Given the description of an element on the screen output the (x, y) to click on. 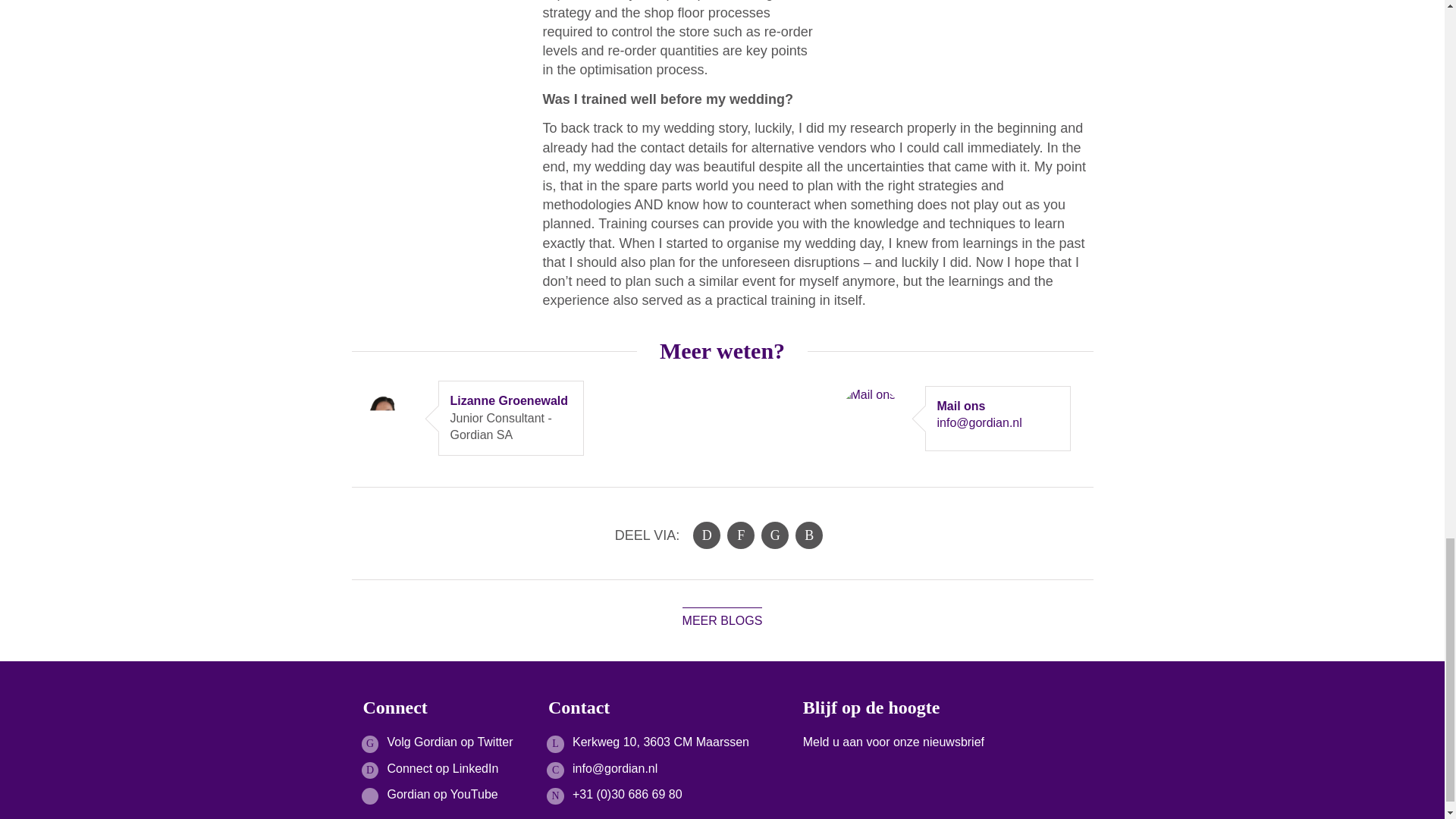
Gordian op YouTube (442, 793)
LinkedIn (706, 534)
Facebook (740, 534)
Connect op LinkedIn (442, 768)
Kerkweg 10, 3603 CM Maarssen (660, 741)
Twitter (775, 534)
MEER BLOGS (722, 620)
Volg Gordian op Twitter (449, 741)
Mail (808, 534)
Bekijk profiel (484, 401)
